Given the description of an element on the screen output the (x, y) to click on. 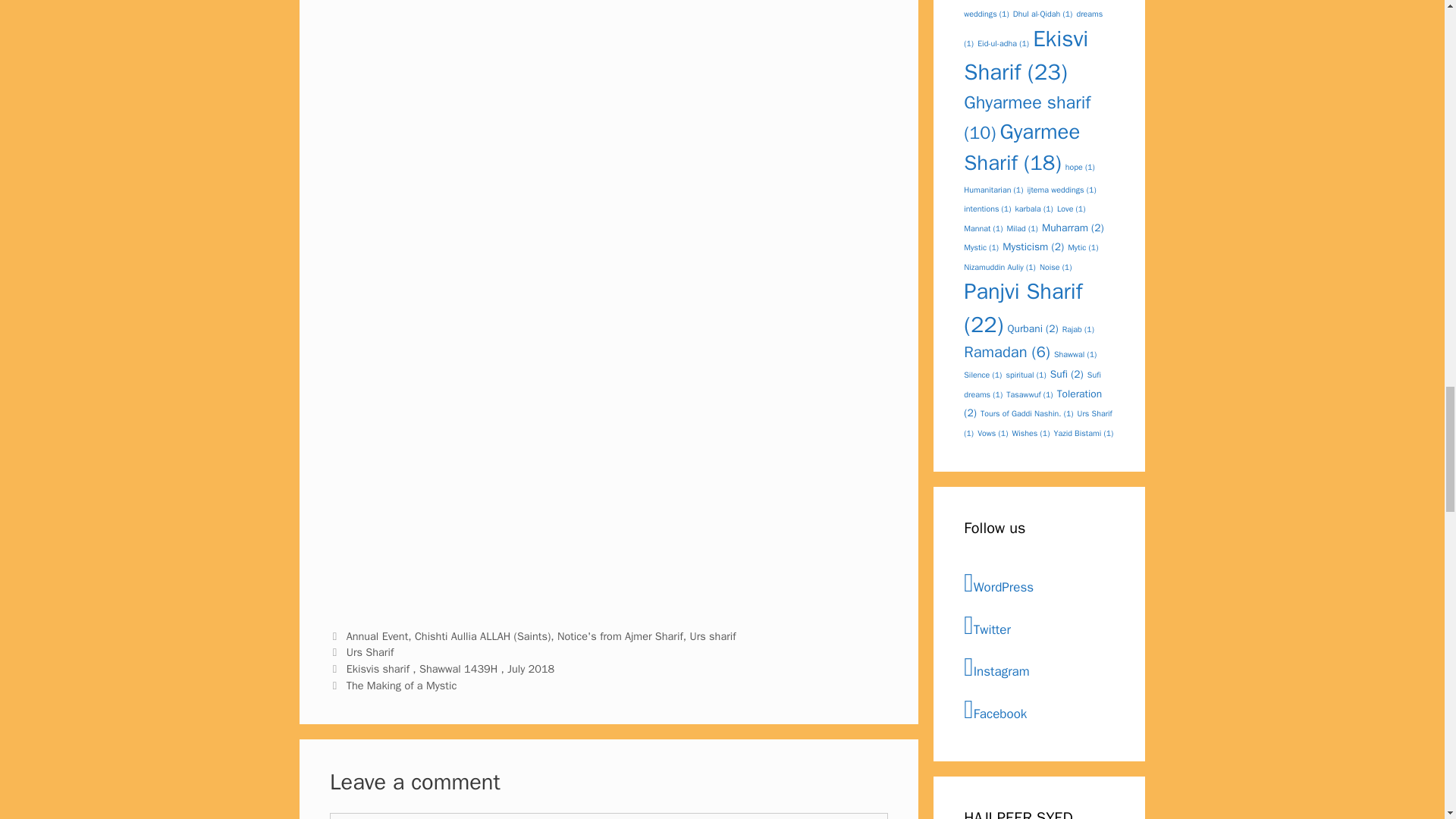
Urs Sharif (370, 652)
Urs sharif (711, 635)
The Making of a Mystic (401, 685)
Annual Event (377, 635)
Notice's from Ajmer Sharif (619, 635)
Ekisvis sharif , Shawwal 1439H , July 2018 (450, 668)
Previous (442, 668)
Next (393, 685)
